Given the description of an element on the screen output the (x, y) to click on. 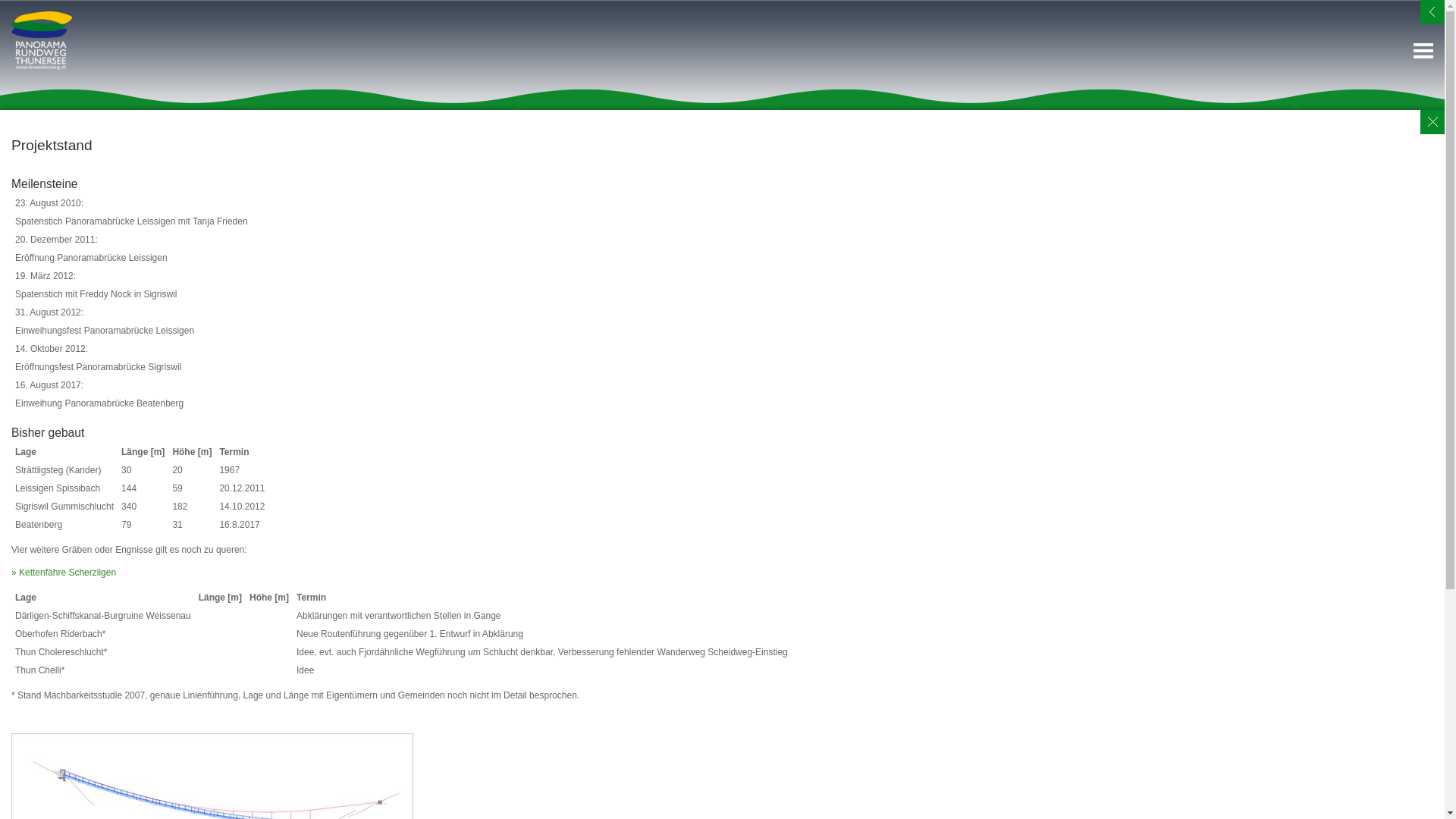
Verein Panorama Rundweg Thunersee Element type: hover (41, 40)
